Given the description of an element on the screen output the (x, y) to click on. 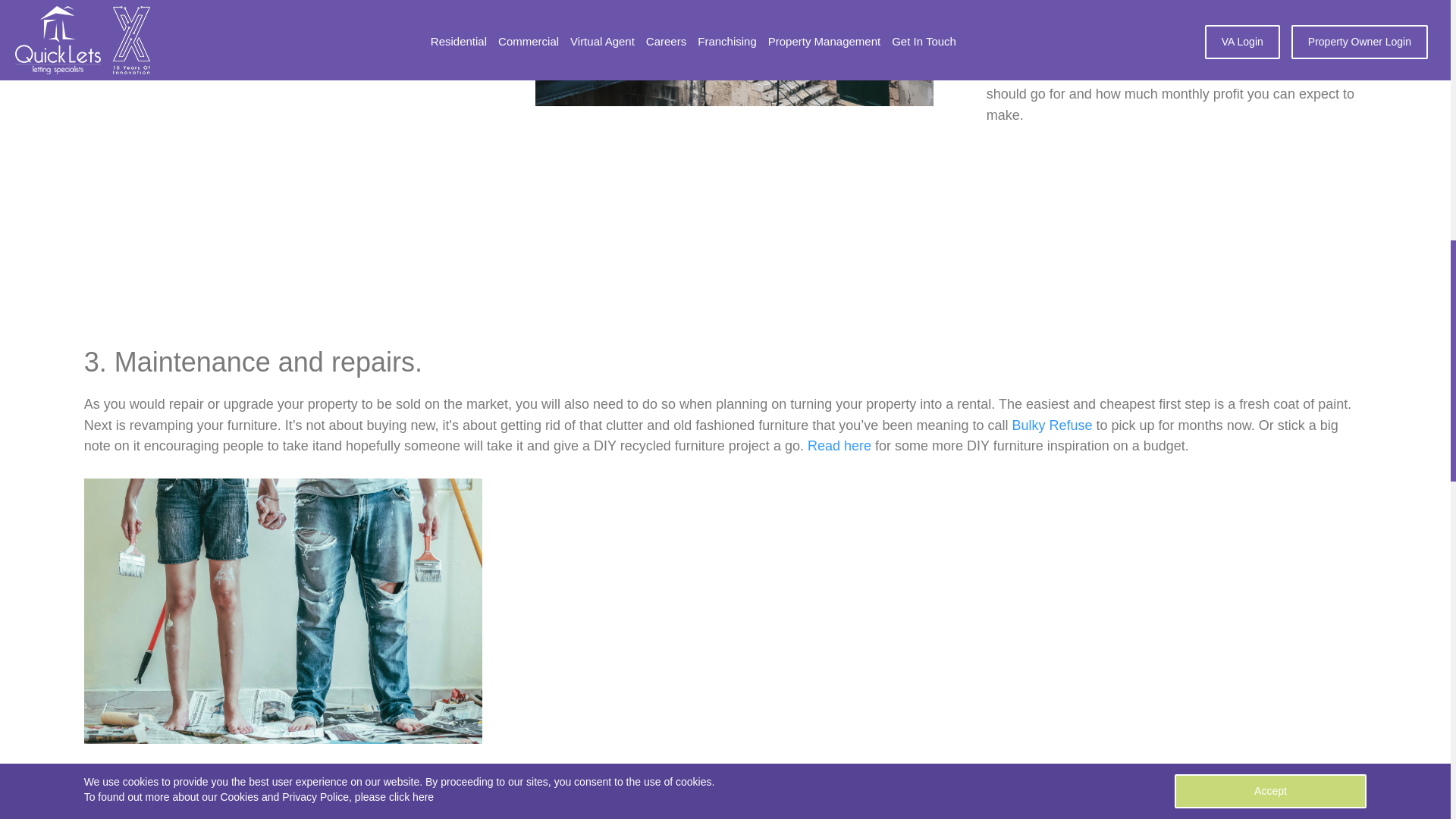
Bulky Refuse (1051, 425)
Read here (839, 445)
